Given the description of an element on the screen output the (x, y) to click on. 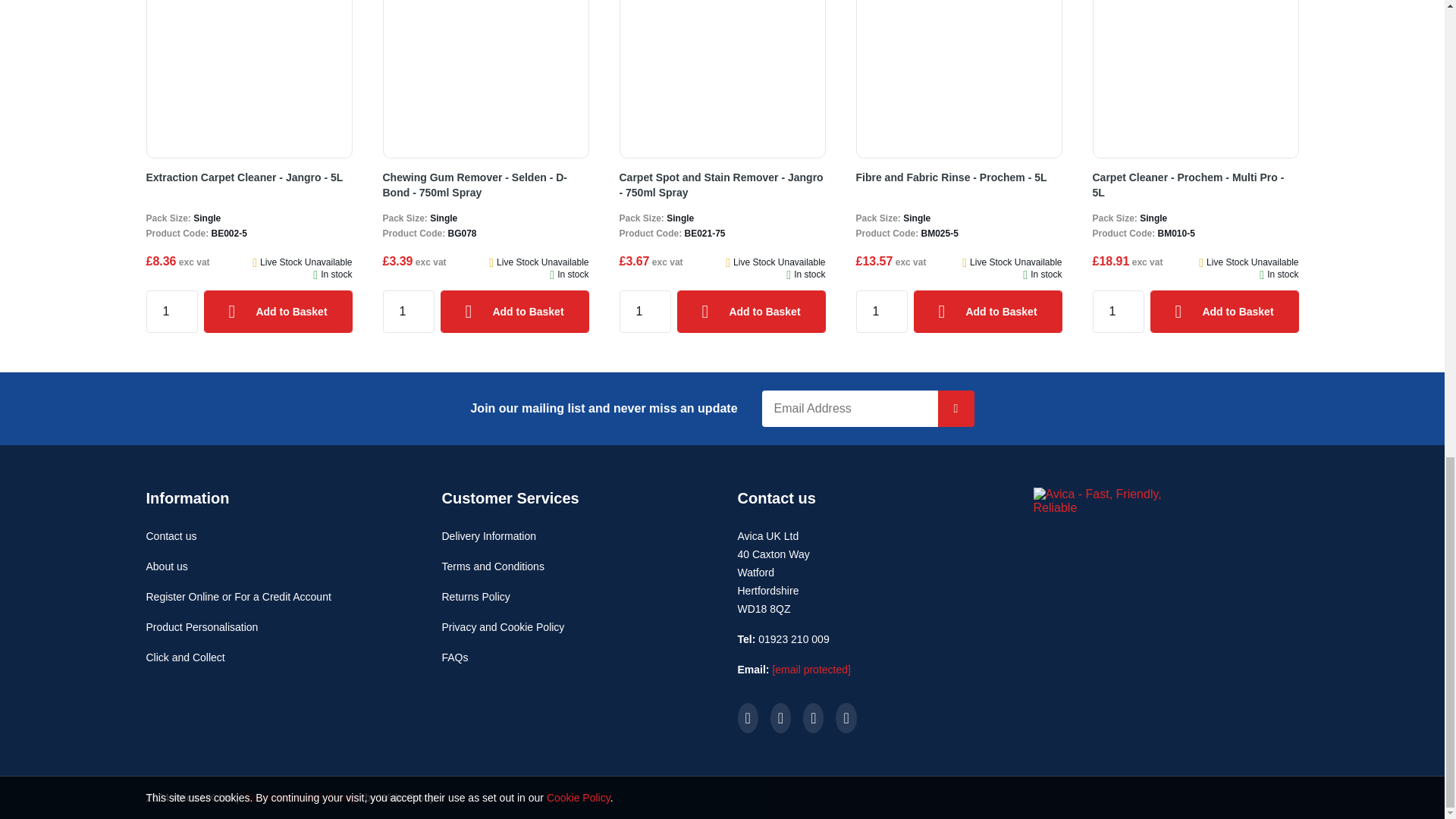
1 (1117, 311)
1 (407, 311)
1 (643, 311)
1 (881, 311)
1 (170, 311)
